Given the description of an element on the screen output the (x, y) to click on. 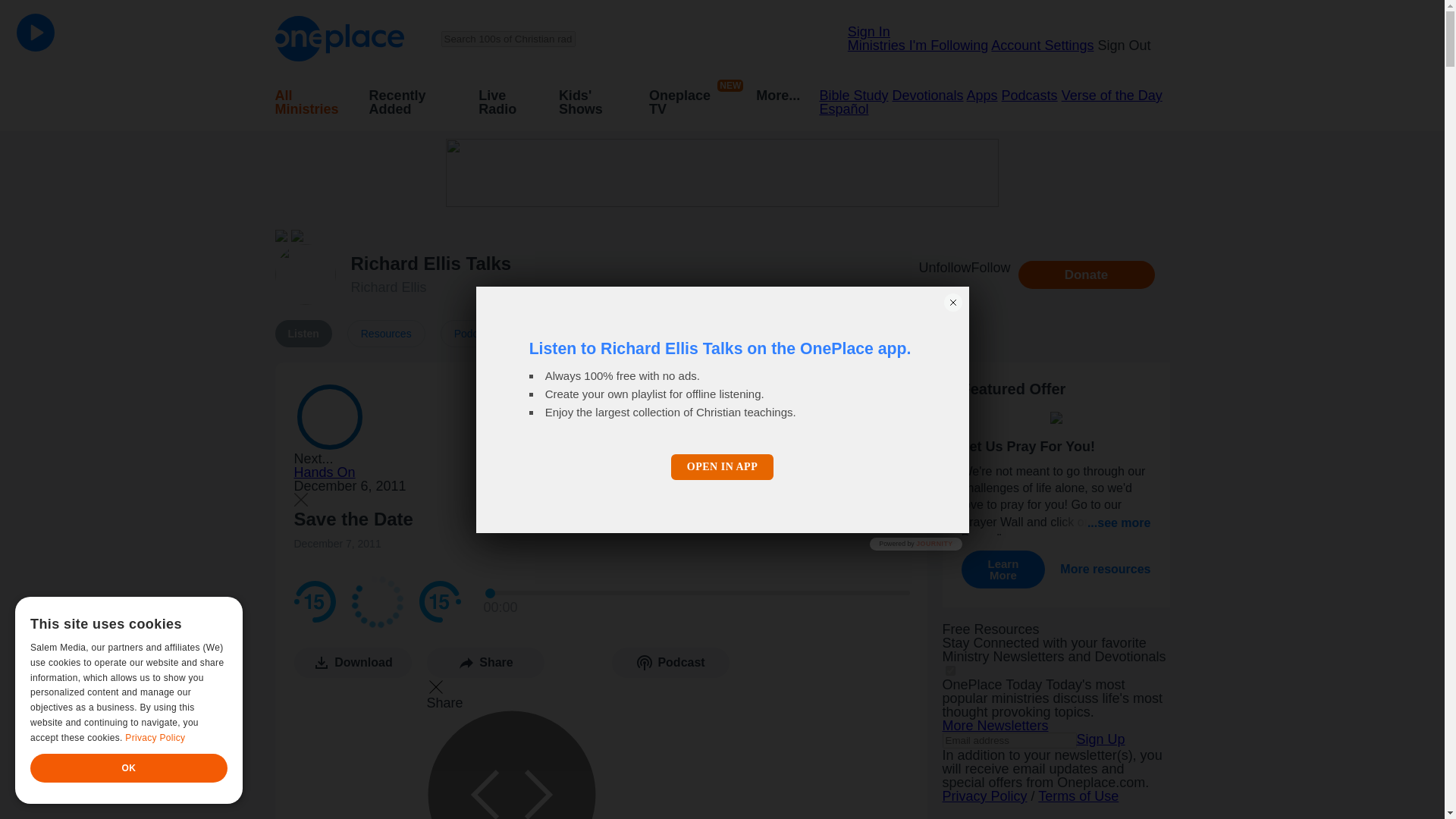
Kids' Shows (594, 102)
Contact (655, 333)
Listen (303, 333)
More Ways to Listen (763, 333)
All Ministries (312, 102)
0.01 (697, 592)
Live Radio (509, 102)
More... (777, 102)
Resources (601, 733)
Share (386, 333)
Richard Ellis (484, 662)
Donate (388, 287)
Oneplace TV (1085, 275)
Recently Added (685, 102)
